Given the description of an element on the screen output the (x, y) to click on. 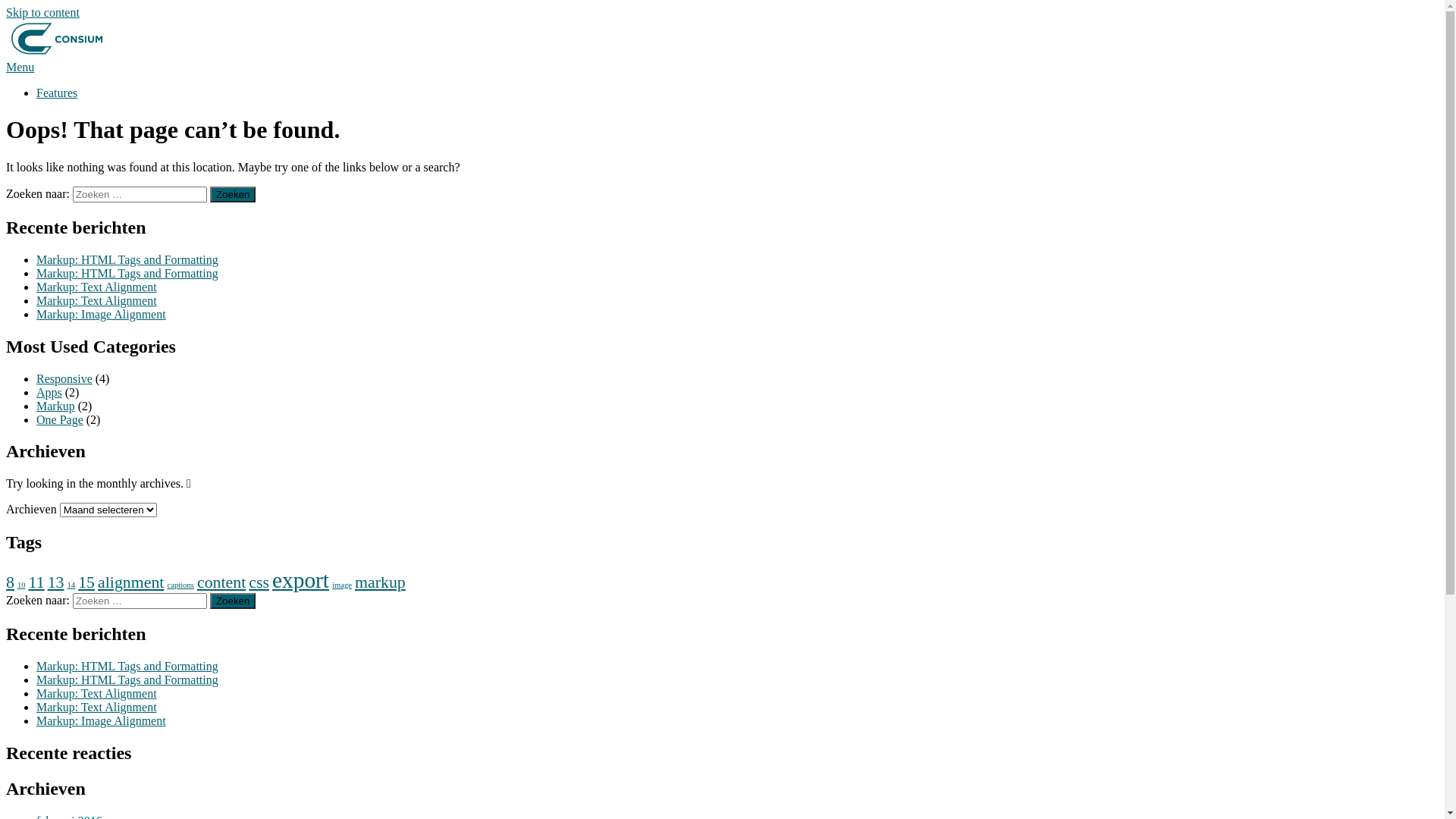
15 Element type: text (86, 582)
Markup: Text Alignment Element type: text (96, 300)
captions Element type: text (180, 584)
Markup Element type: text (55, 404)
10 Element type: text (21, 584)
markup Element type: text (379, 582)
Markup: HTML Tags and Formatting Element type: text (127, 259)
Markup: Text Alignment Element type: text (96, 706)
css Element type: text (258, 582)
image Element type: text (341, 584)
Apps Element type: text (49, 391)
Markup: Text Alignment Element type: text (96, 286)
Markup: Image Alignment Element type: text (101, 313)
Markup: HTML Tags and Formatting Element type: text (127, 665)
One Page Element type: text (59, 418)
14 Element type: text (71, 584)
Markup: HTML Tags and Formatting Element type: text (127, 679)
export Element type: text (300, 579)
Responsive Element type: text (64, 377)
Features Element type: text (56, 92)
Markup: HTML Tags and Formatting Element type: text (127, 272)
11 Element type: text (36, 582)
Skip to content Element type: text (42, 12)
Zoeken Element type: text (232, 194)
Markup: Image Alignment Element type: text (101, 720)
content Element type: text (221, 582)
8 Element type: text (10, 582)
alignment Element type: text (130, 582)
Markup: Text Alignment Element type: text (96, 693)
Menu Element type: text (20, 66)
Zoeken Element type: text (232, 600)
13 Element type: text (55, 582)
